Given the description of an element on the screen output the (x, y) to click on. 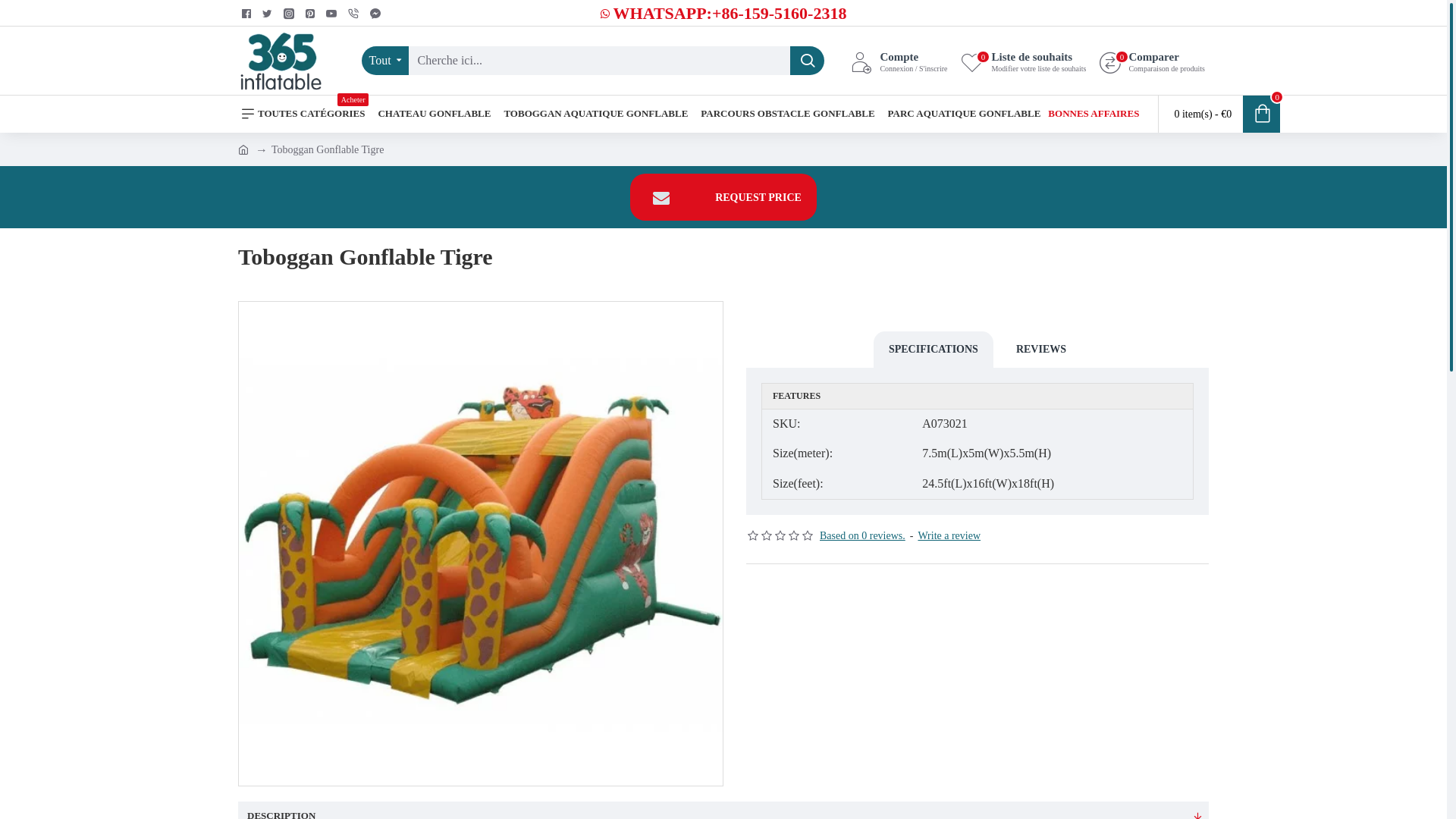
REVIEWS Element type: text (1041, 349)
Liste de souhaits
Modifier votre liste de souhaits
0 Element type: text (1023, 59)
Toboggan Gonflable Tigre Element type: hover (480, 543)
BONNES AFFAIRES Element type: text (1093, 113)
365gonflable.fr Element type: hover (280, 60)
Based on 0 reviews. Element type: text (862, 535)
Comparer
Comparaison de produits
0 Element type: text (1151, 59)
Write a review Element type: text (948, 535)
Compte
Connexion / S'inscrire Element type: text (898, 59)
SPECIFICATIONS Element type: text (933, 349)
Toboggan Gonflable Tigre Element type: text (327, 148)
WHATSAPP:+86-159-5160-2318 Element type: text (723, 13)
PARCOURS OBSTACLE GONFLABLE Element type: text (787, 113)
CHATEAU GONFLABLE Element type: text (433, 113)
TOBOGGAN AQUATIQUE GONFLABLE Element type: text (595, 113)
PARC AQUATIQUE GONFLABLE Element type: text (964, 113)
REQUEST PRICE Element type: text (723, 196)
